Given the description of an element on the screen output the (x, y) to click on. 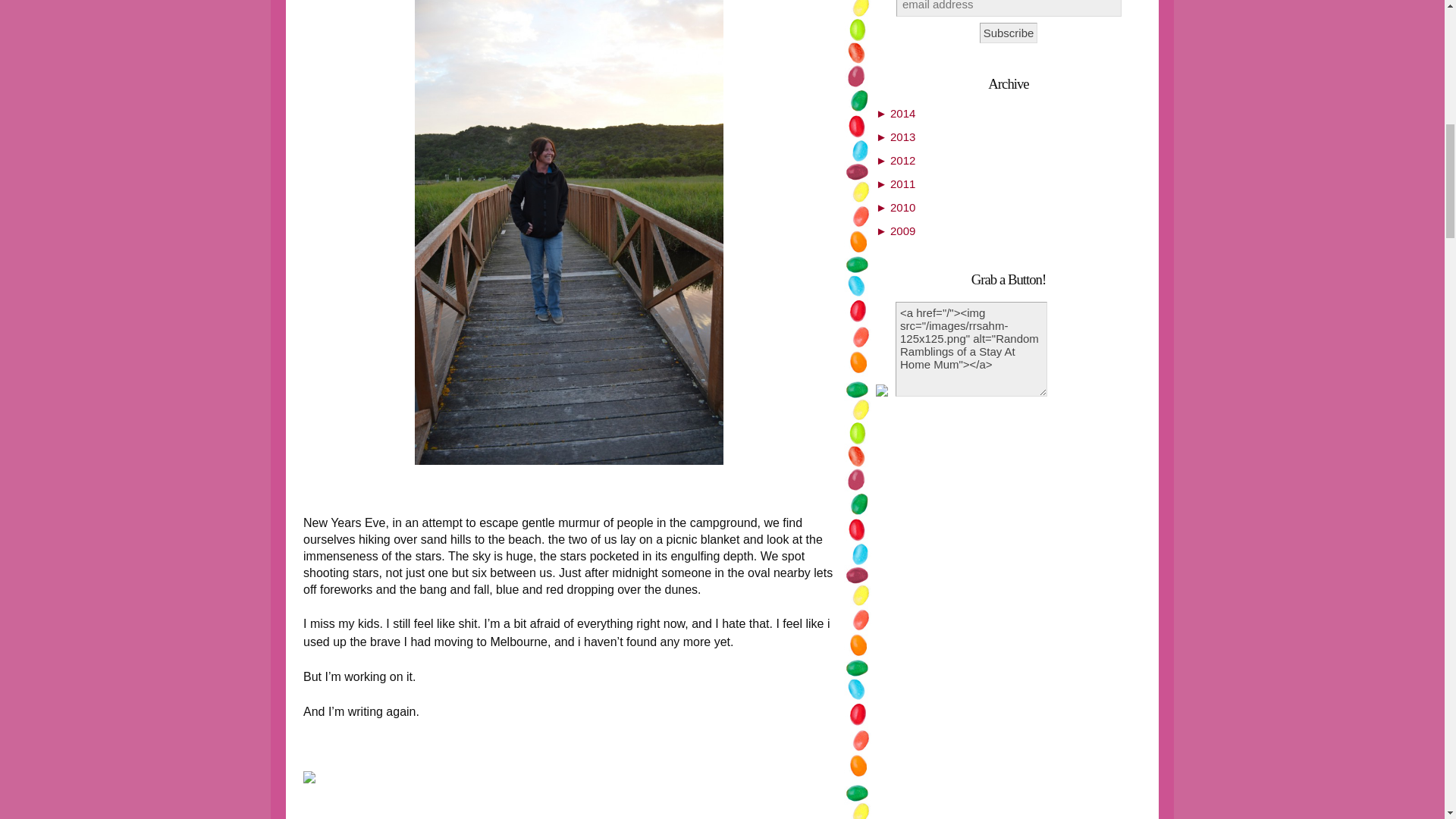
Subscribe (1008, 32)
